Given the description of an element on the screen output the (x, y) to click on. 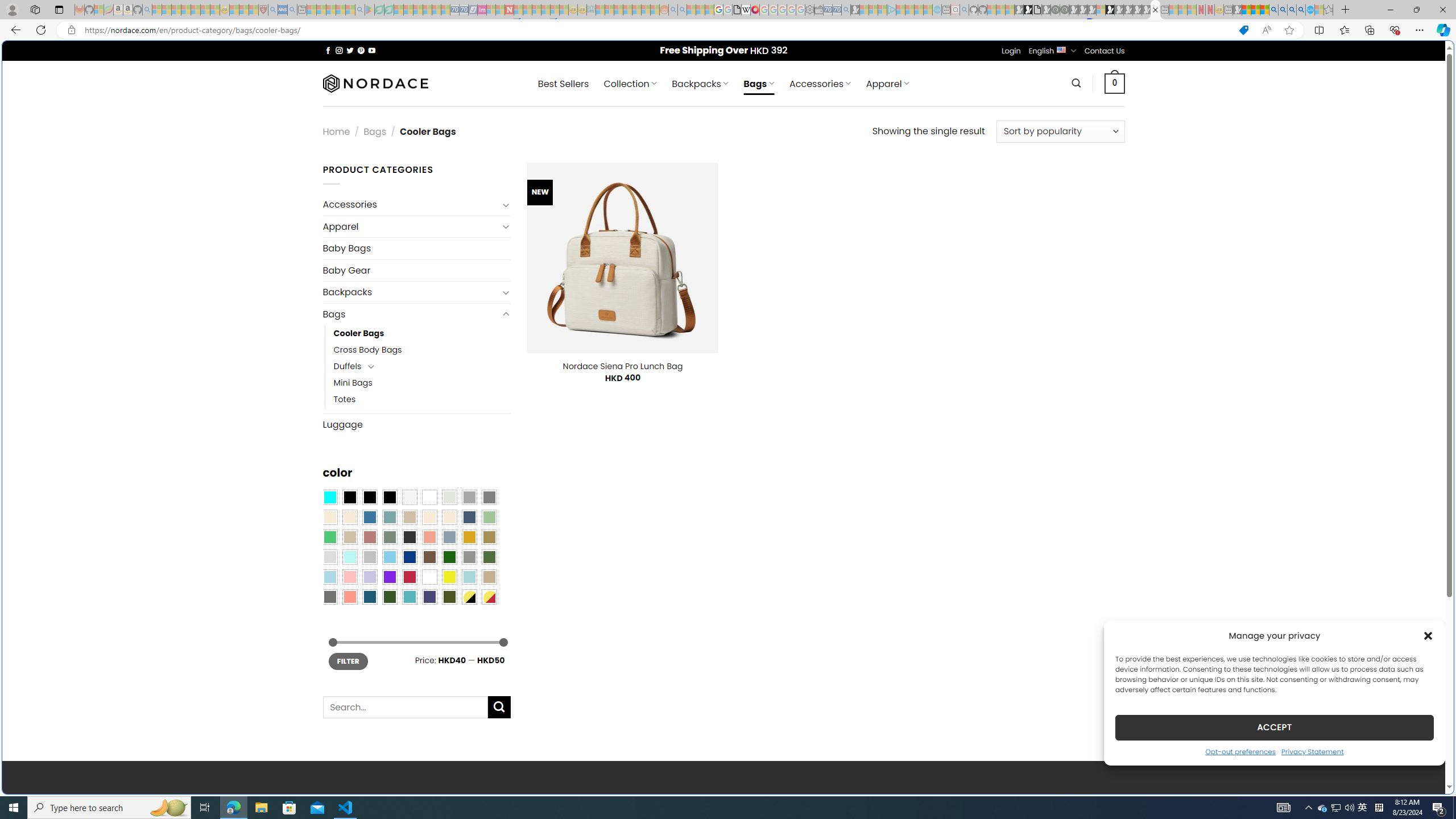
Mint (349, 557)
Class: cmplz-close (1428, 635)
Opt-out preferences (1240, 750)
Gold (468, 536)
Light Taupe (349, 536)
Silver (369, 557)
MediaWiki (754, 9)
